Given the description of an element on the screen output the (x, y) to click on. 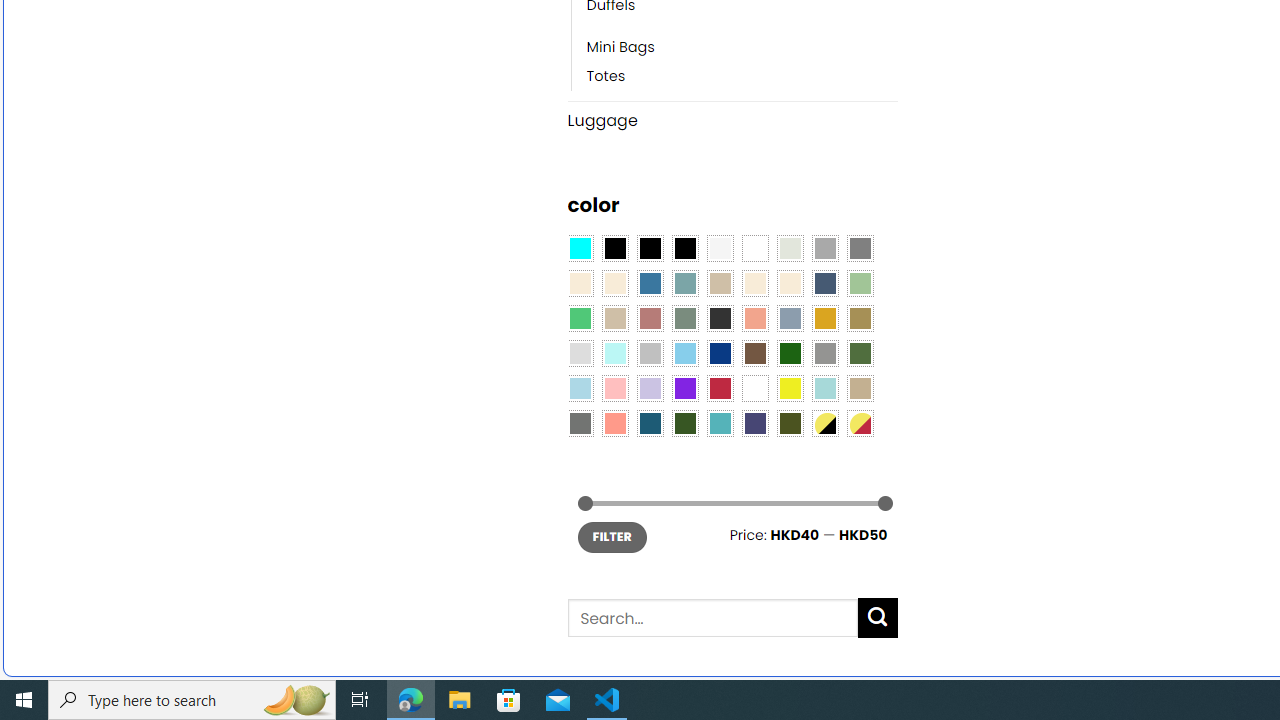
Yellow-Red (859, 424)
Pearly White (719, 249)
Hale Navy (824, 283)
Light Green (859, 283)
Luggage (732, 119)
Submit (877, 617)
All Gray (859, 249)
Purple (684, 388)
Capri Blue (650, 424)
Light Blue (579, 388)
Search for: (712, 617)
Khaki (859, 388)
Caramel (755, 283)
Beige-Brown (614, 283)
Light Gray (579, 354)
